Given the description of an element on the screen output the (x, y) to click on. 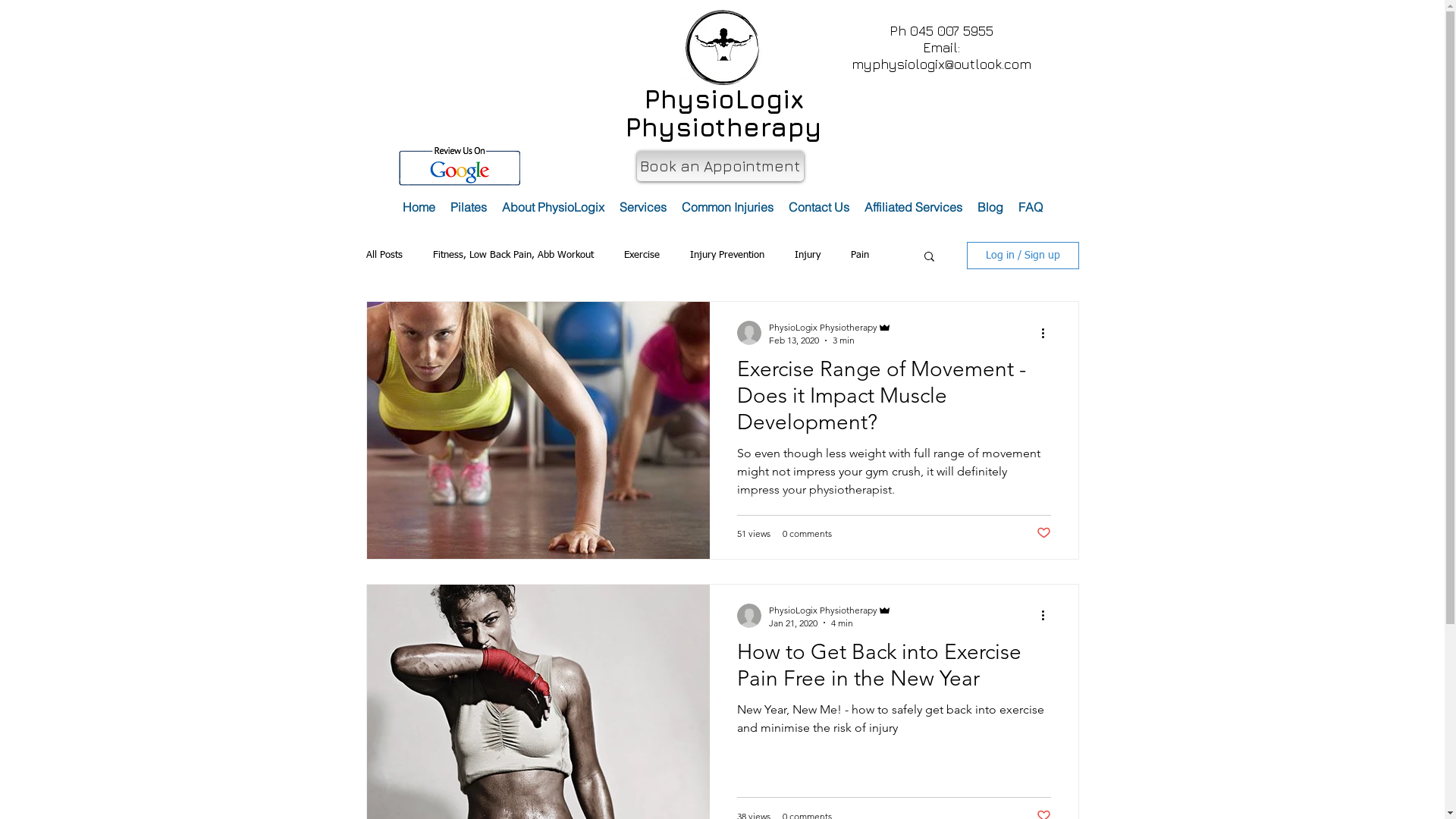
Affiliated Services Element type: text (912, 207)
Book an Appointment Element type: text (720, 165)
Fitness, Low Back Pain, Abb Workout Element type: text (512, 255)
Blog Element type: text (989, 207)
Pain Element type: text (859, 255)
Common Injuries Element type: text (727, 207)
All Posts Element type: text (383, 255)
Log in / Sign up Element type: text (1022, 255)
Services Element type: text (642, 207)
myphysiologix@outlook.com Element type: text (940, 64)
How to Get Back into Exercise Pain Free in the New Year Element type: text (894, 668)
0 comments Element type: text (806, 533)
Pilates Element type: text (468, 207)
Post not marked as liked Element type: text (1042, 533)
Injury Prevention Element type: text (727, 255)
Home Element type: text (418, 207)
FAQ Element type: text (1030, 207)
Contact Us Element type: text (818, 207)
About PhysioLogix Element type: text (552, 207)
Injury Element type: text (807, 255)
PhysioLogix No Text1.jpg Element type: hover (721, 47)
Exercise Element type: text (640, 255)
